Given the description of an element on the screen output the (x, y) to click on. 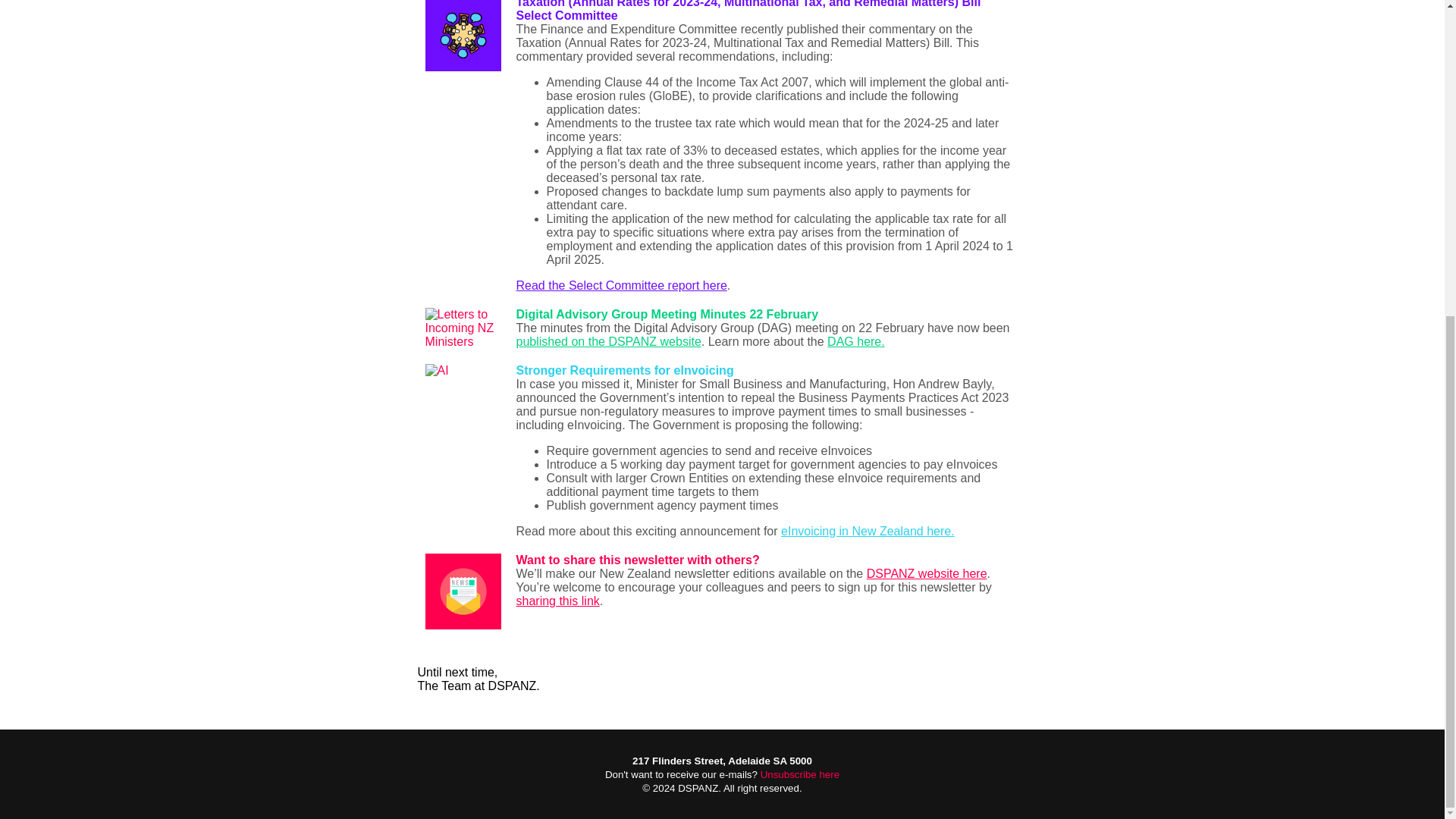
Digital Advisory Group Meeting Minutes 22 February (666, 314)
eInvoicing in New Zealand here. (867, 530)
Want to share this newsletter with others? (636, 559)
Read the Select Committee report here (620, 285)
DSPANZ website here (926, 573)
DAG here (853, 341)
Unsubscribe here (798, 774)
published on the DSPANZ website (607, 341)
sharing this link (556, 600)
Stronger Requirements for eInvoicing (624, 369)
